Given the description of an element on the screen output the (x, y) to click on. 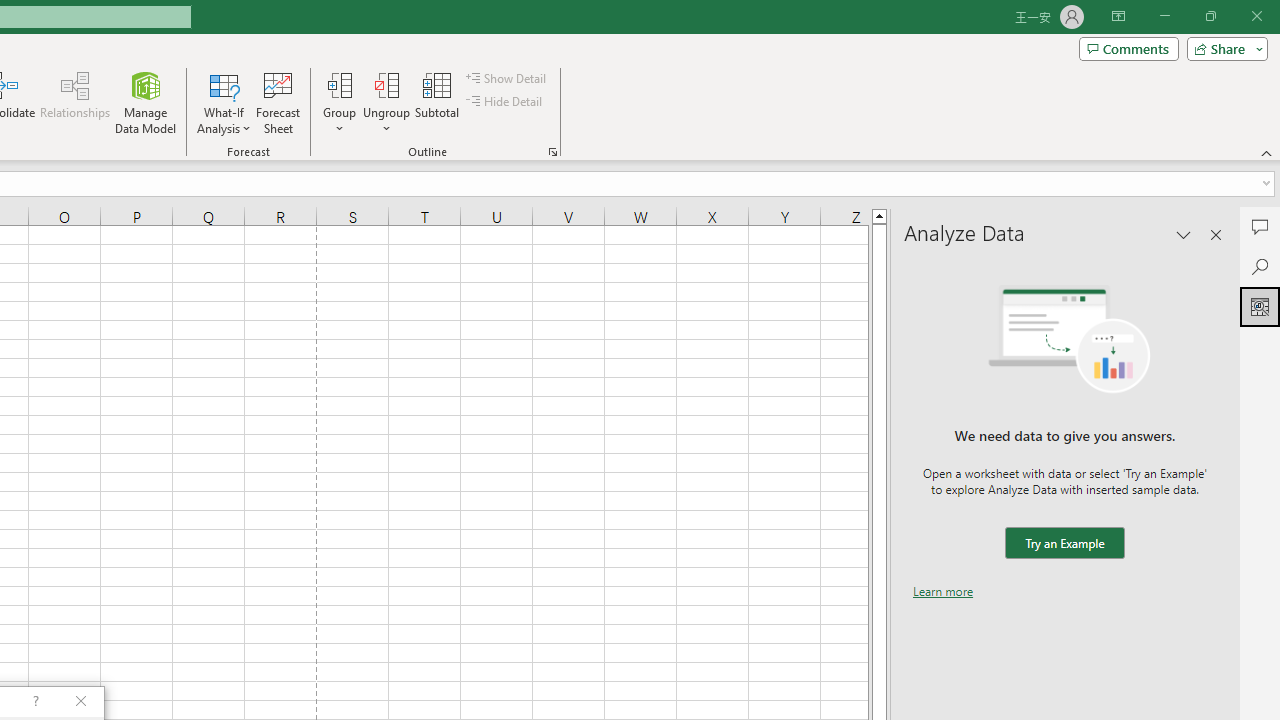
Close pane (1215, 234)
Learn more (943, 591)
Manage Data Model (145, 102)
Group and Outline Settings (552, 151)
Restore Down (1210, 16)
Forecast Sheet (278, 102)
Analyze Data (1260, 306)
Task Pane Options (1183, 234)
